Given the description of an element on the screen output the (x, y) to click on. 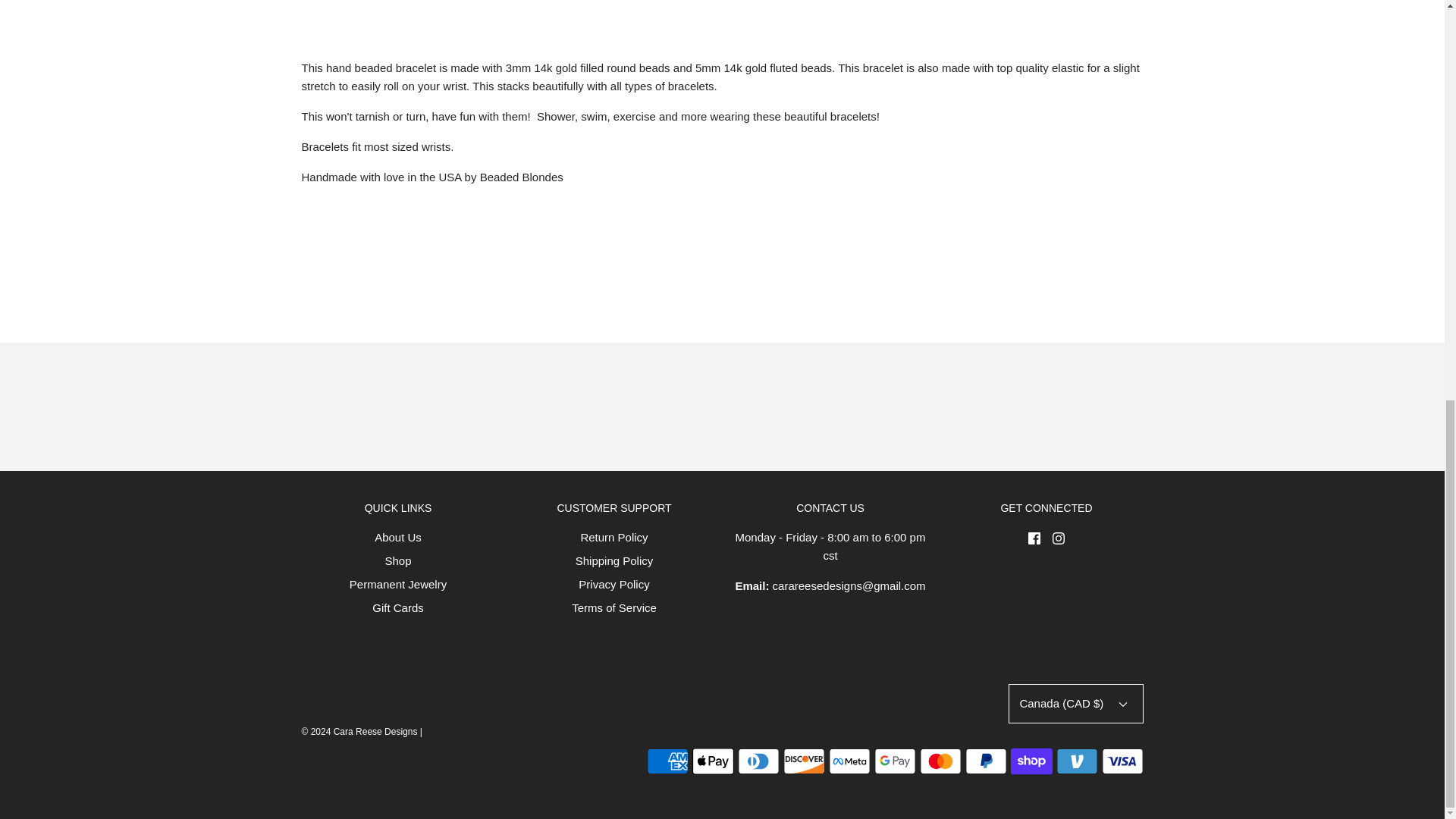
Google Pay (894, 761)
Visa (1121, 761)
Apple Pay (712, 761)
Mastercard (939, 761)
Facebook icon (1034, 538)
Shop Pay (1030, 761)
Diners Club (757, 761)
PayPal (984, 761)
Venmo (1076, 761)
Meta Pay (848, 761)
Instagram icon (1058, 538)
Discover (803, 761)
American Express (666, 761)
